Given the description of an element on the screen output the (x, y) to click on. 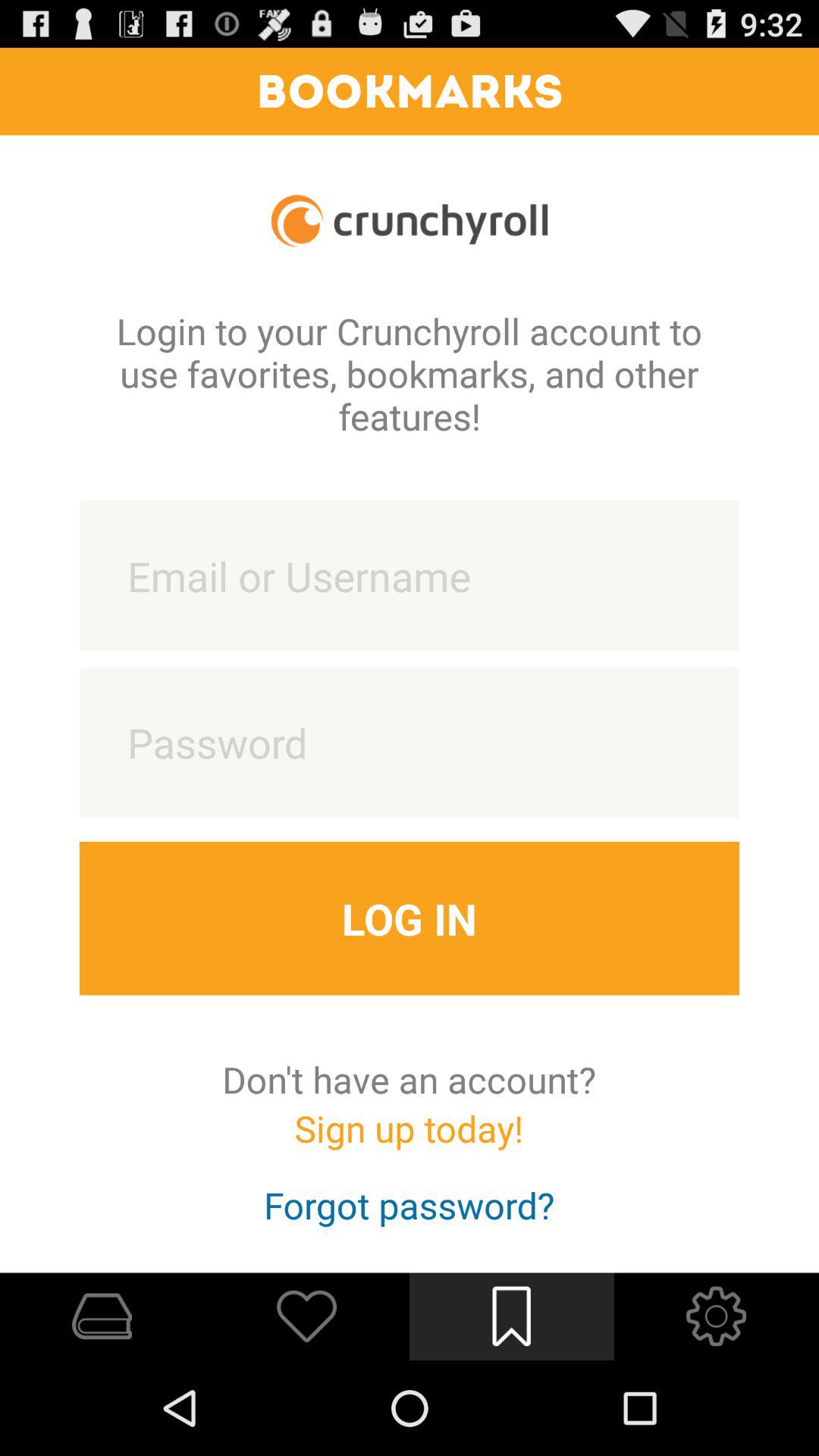
enter password (409, 742)
